Given the description of an element on the screen output the (x, y) to click on. 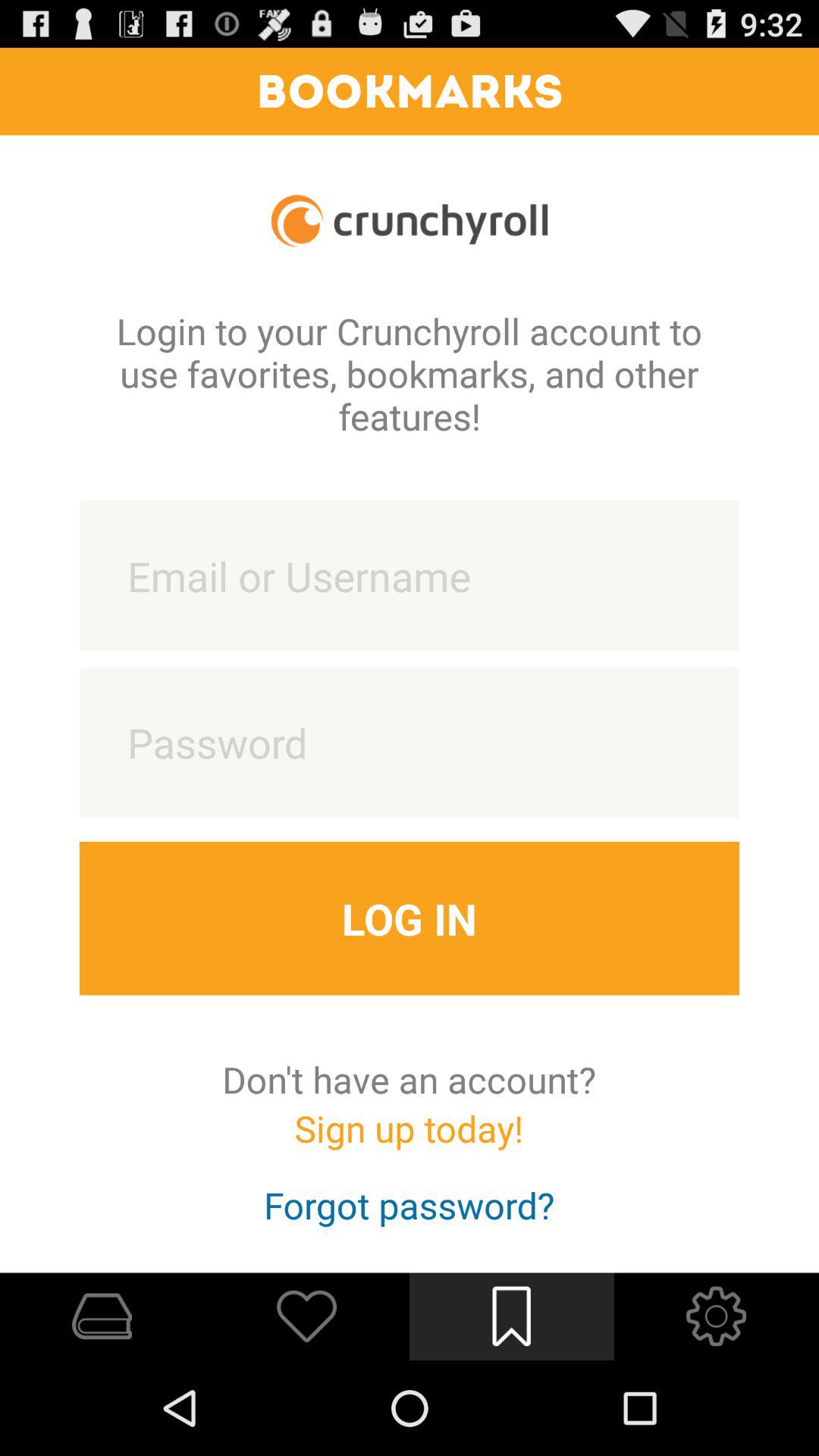
enter password (409, 742)
